Given the description of an element on the screen output the (x, y) to click on. 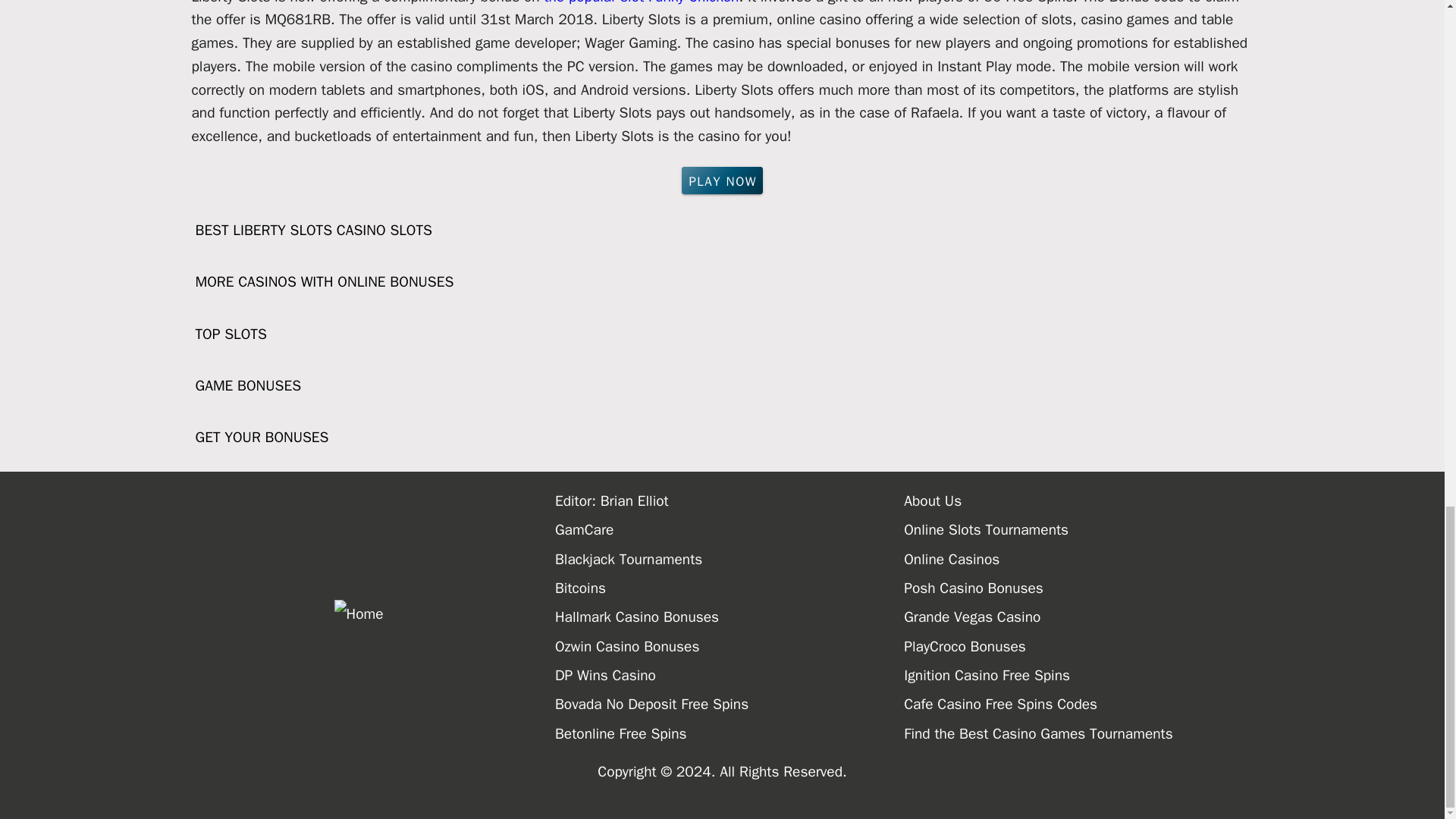
PlayCroco Bonuses (1078, 646)
About Us (1078, 500)
Blackjack Tournaments (729, 559)
Posh Casino Bonuses (1078, 588)
Cafe Casino Free Spins Codes (1078, 704)
Bovada No Deposit Free Spins (729, 704)
Hallmark Casino Bonuses (729, 616)
Bitcoins (729, 588)
Ozwin Casino Bonuses (729, 646)
the popular slot Funky Chicken (640, 2)
GamCare (729, 529)
Online Casinos (1078, 559)
Grande Vegas Casino (1078, 616)
DP Wins Casino (729, 675)
Ignition Casino Free Spins (1078, 675)
